Given the description of an element on the screen output the (x, y) to click on. 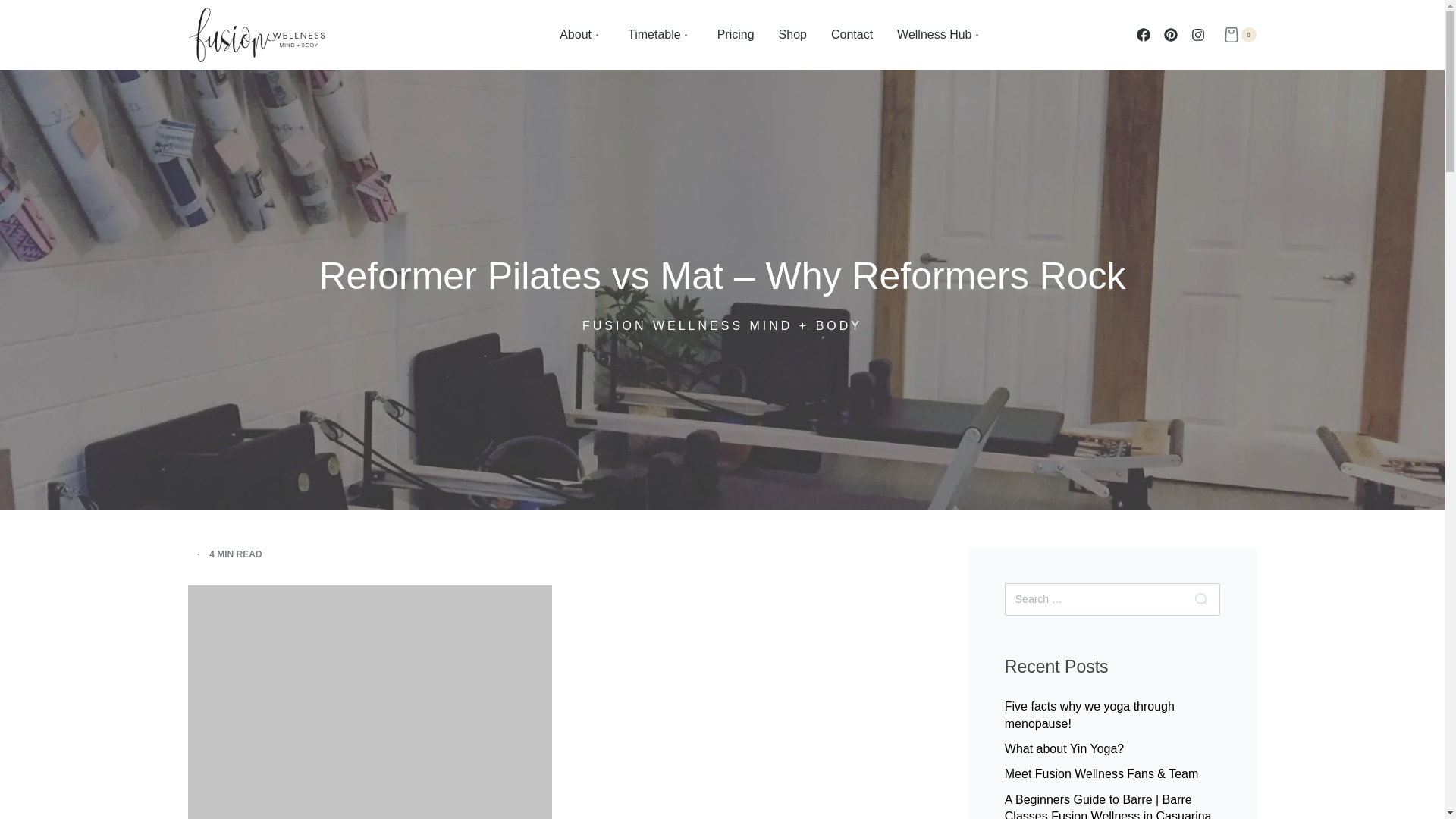
Wellness Hub (940, 35)
Contact (851, 35)
Timetable (660, 35)
About (581, 35)
Shop (792, 35)
Pricing (735, 35)
0 (1239, 34)
